Given the description of an element on the screen output the (x, y) to click on. 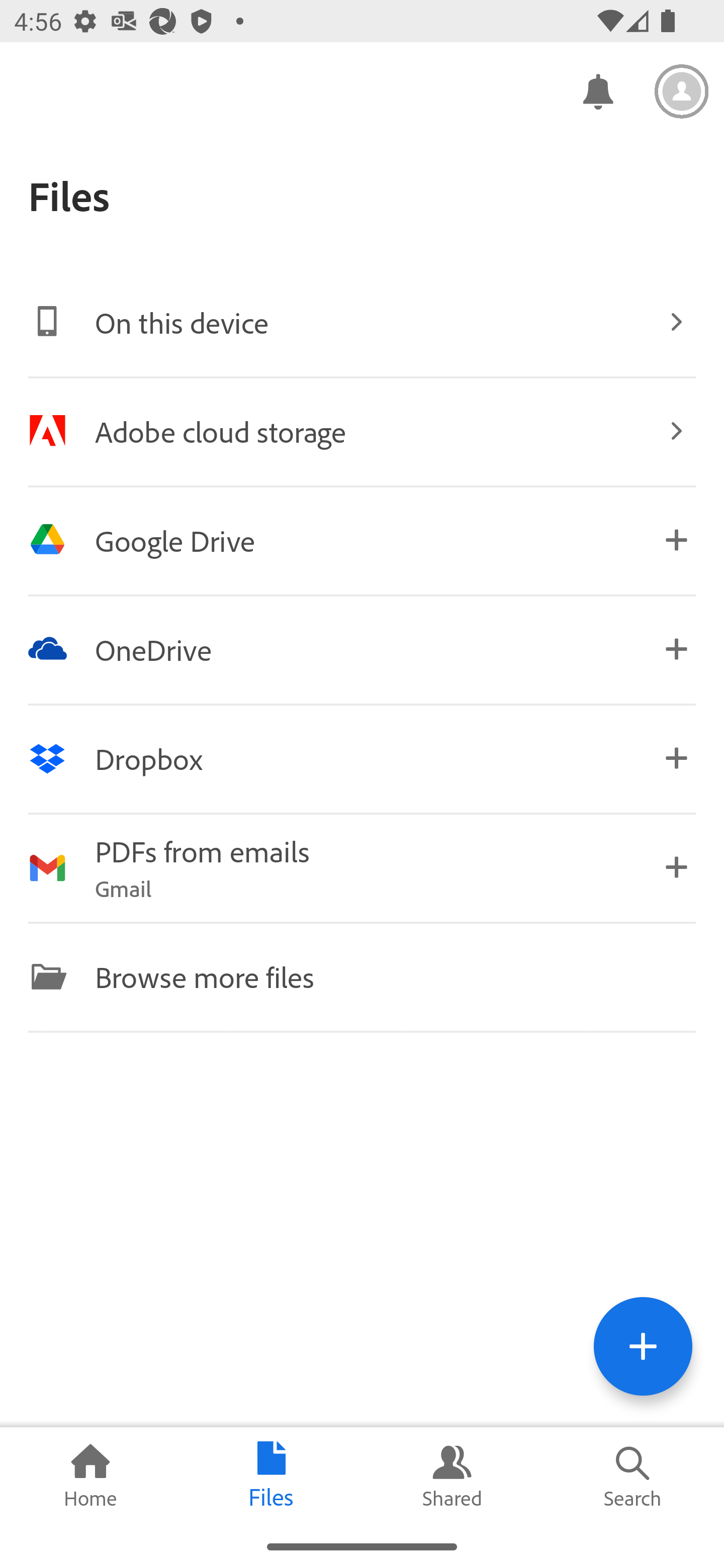
Notifications (597, 90)
Settings (681, 91)
Image On this device (362, 322)
Image Adobe cloud storage (362, 431)
Image Google Drive (362, 540)
Image OneDrive (362, 649)
Image Dropbox (362, 758)
Image PDFs from emails Gmail (362, 866)
Image Browse more files (362, 975)
Tools (642, 1345)
Home (90, 1475)
Files (271, 1475)
Shared (452, 1475)
Search (633, 1475)
